Given the description of an element on the screen output the (x, y) to click on. 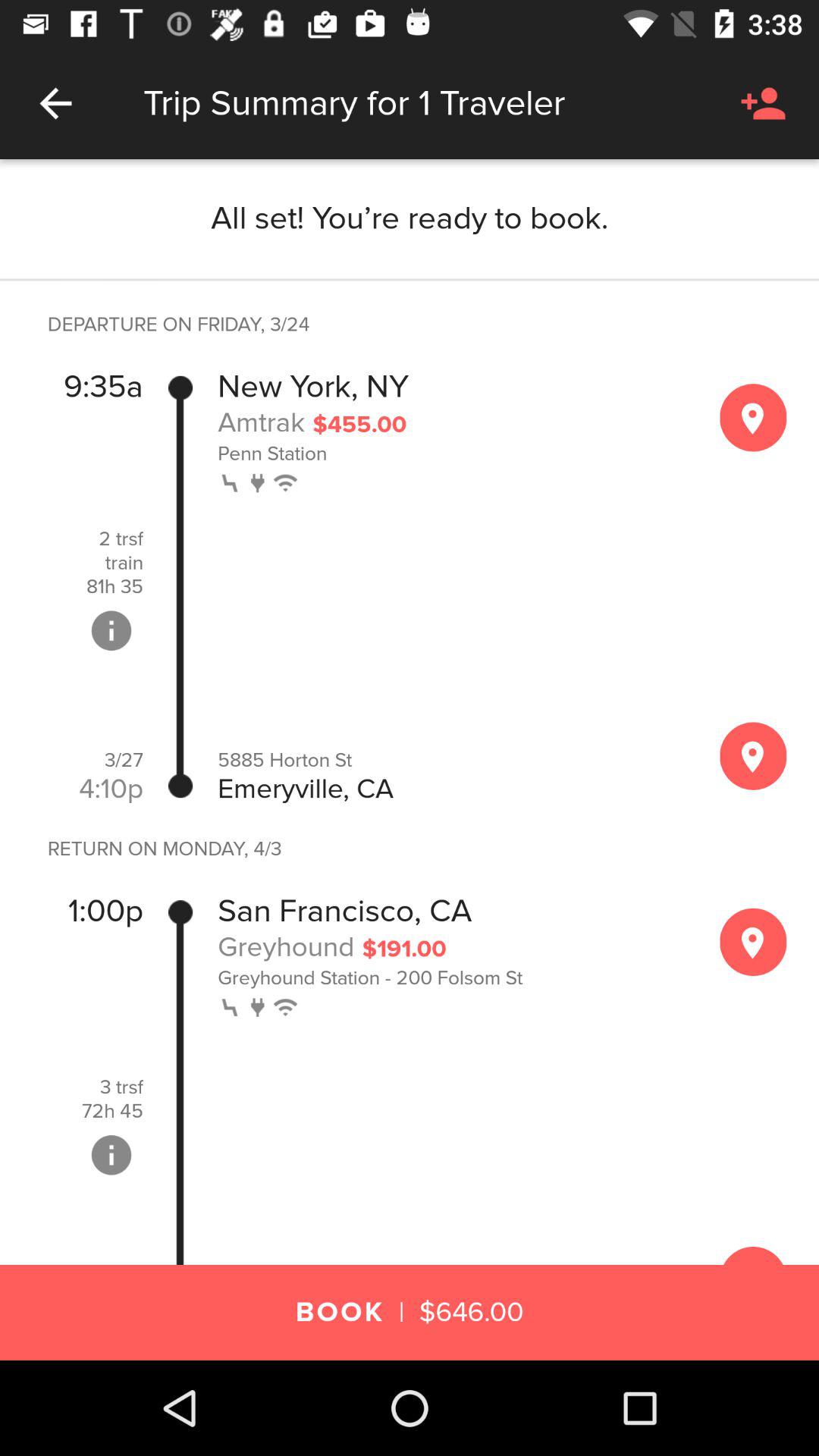
back to previous screen (55, 103)
